Given the description of an element on the screen output the (x, y) to click on. 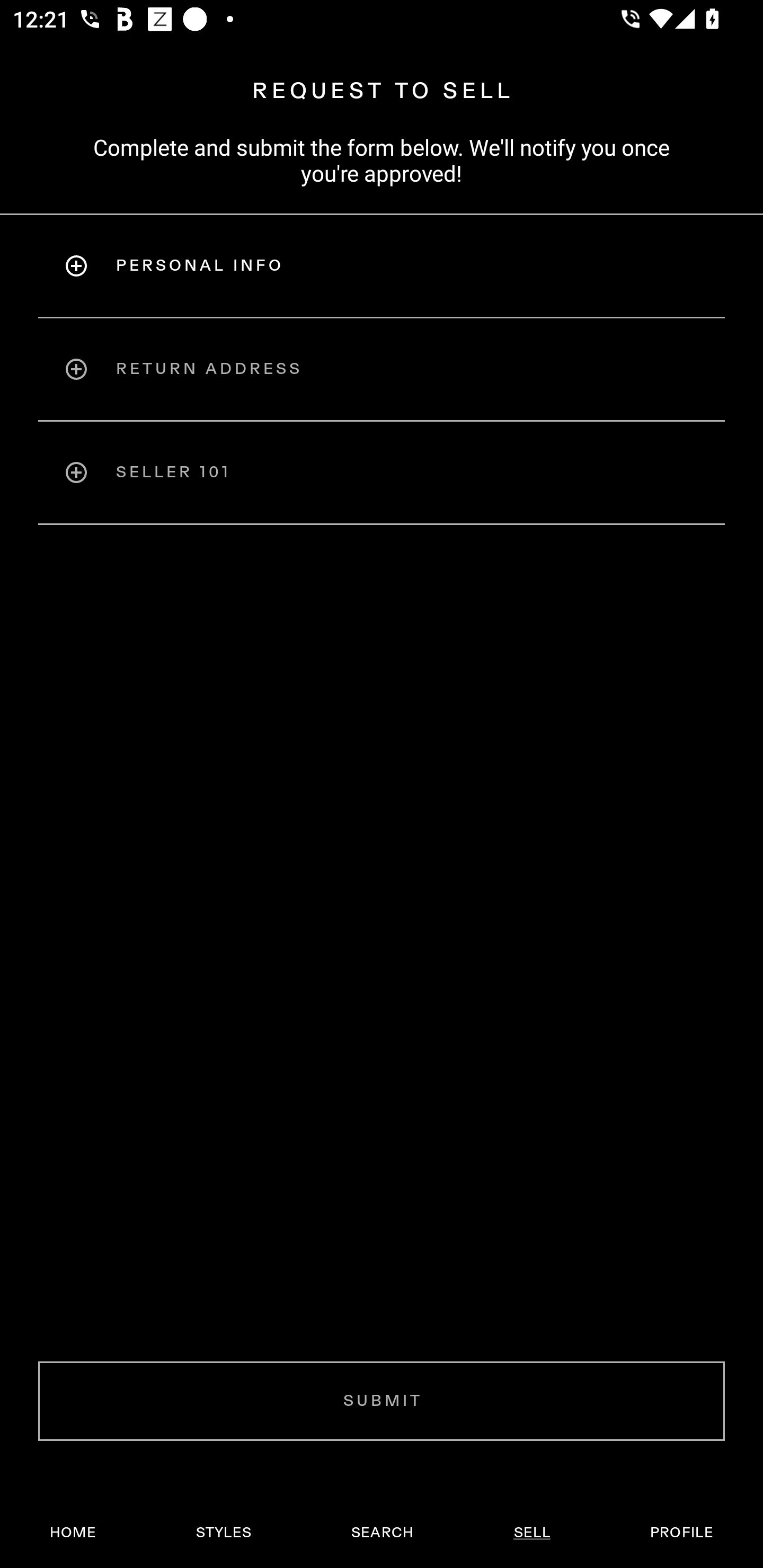
PERSONAL INFO (381, 265)
RETURN ADDRESS (381, 369)
SELLER 101 (381, 472)
SUBMIT (381, 1400)
HOME (72, 1532)
STYLES (222, 1532)
SEARCH (381, 1532)
SELL (531, 1532)
PROFILE (681, 1532)
